Given the description of an element on the screen output the (x, y) to click on. 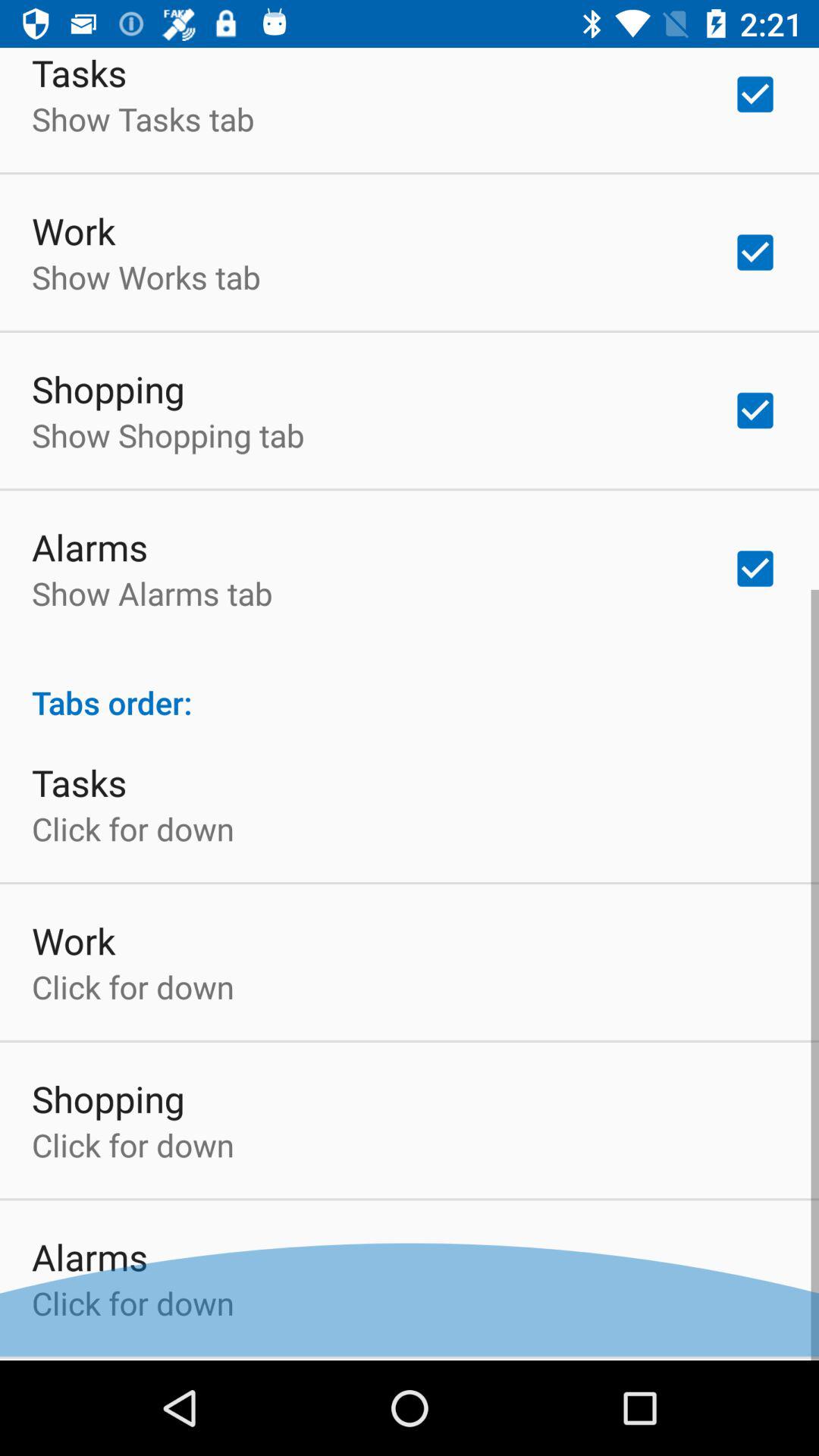
turn on tabs order: icon (409, 690)
